Given the description of an element on the screen output the (x, y) to click on. 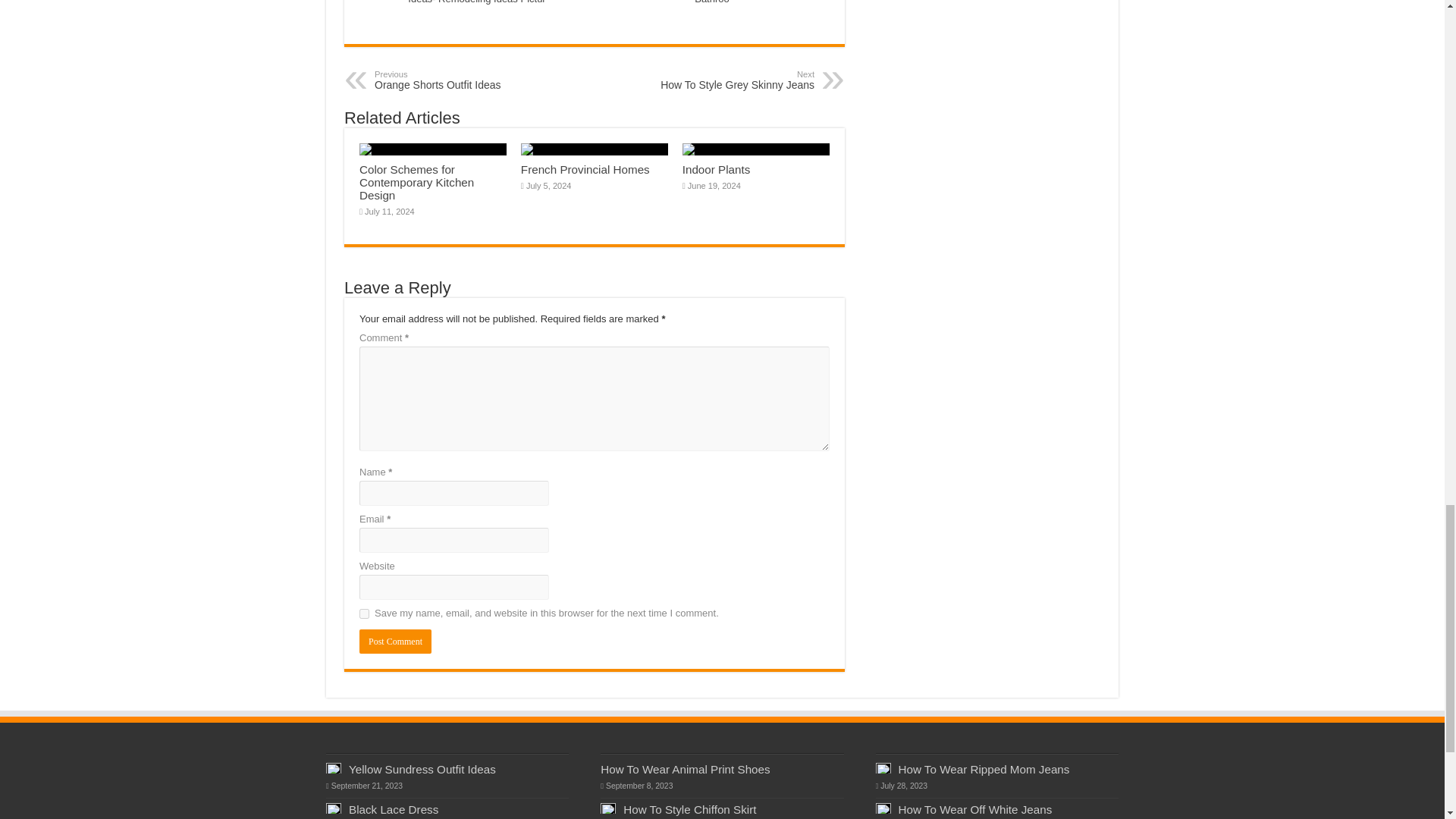
Color Schemes for Contemporary Kitchen Design (451, 79)
French Provincial Homes (416, 181)
Indoor Plants (585, 169)
yes (716, 169)
Post Comment (736, 79)
Yellow Sundress Outfit Ideas (364, 614)
Black Lace Dress (394, 641)
Post Comment (422, 768)
